Given the description of an element on the screen output the (x, y) to click on. 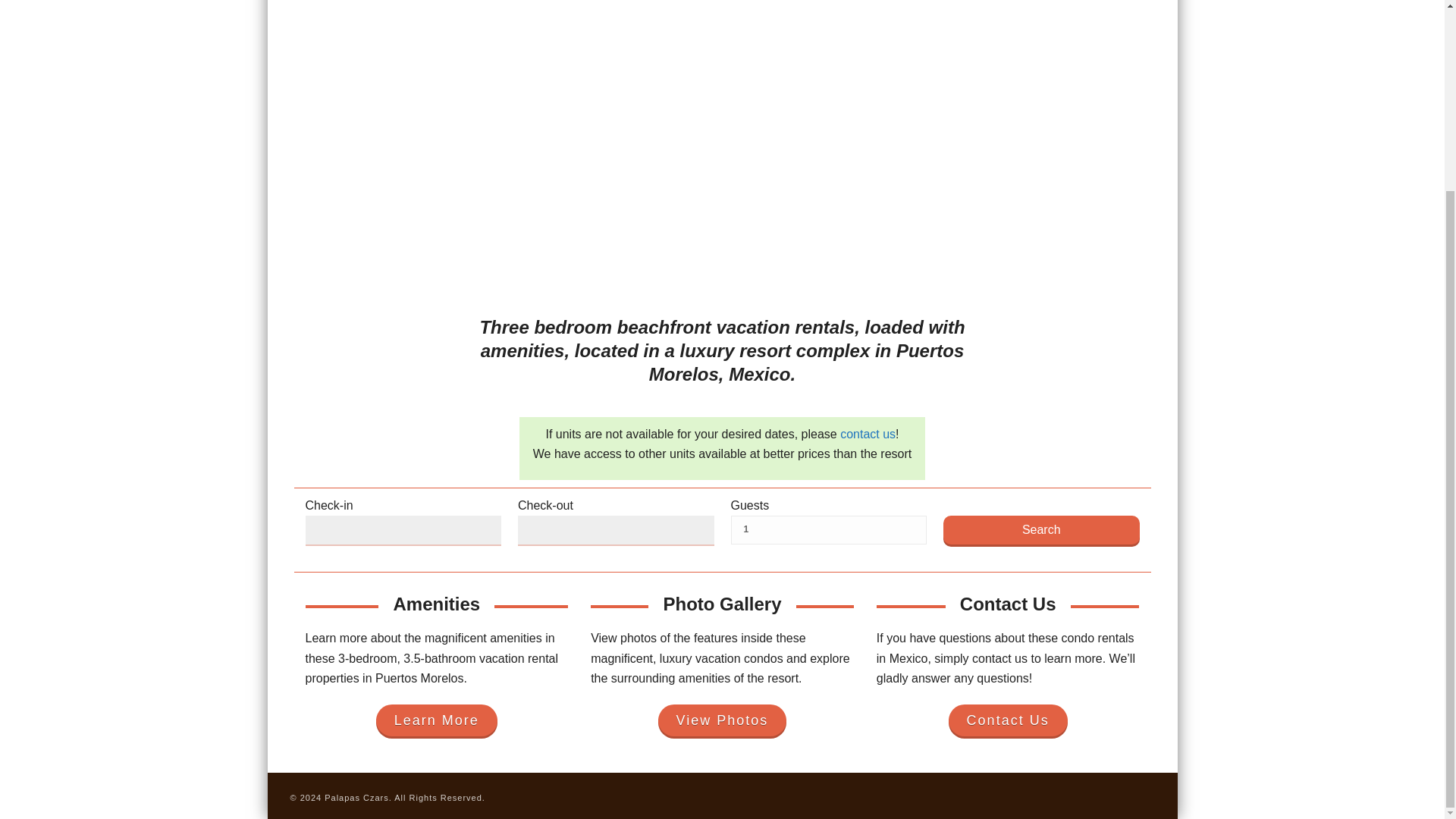
Contact Us (1008, 720)
Learn More (436, 720)
Learn More (436, 720)
Search (1041, 529)
Contact Us (1008, 720)
View Photos (722, 720)
contact us (867, 433)
View Photos (722, 720)
Search (1041, 529)
